Given the description of an element on the screen output the (x, y) to click on. 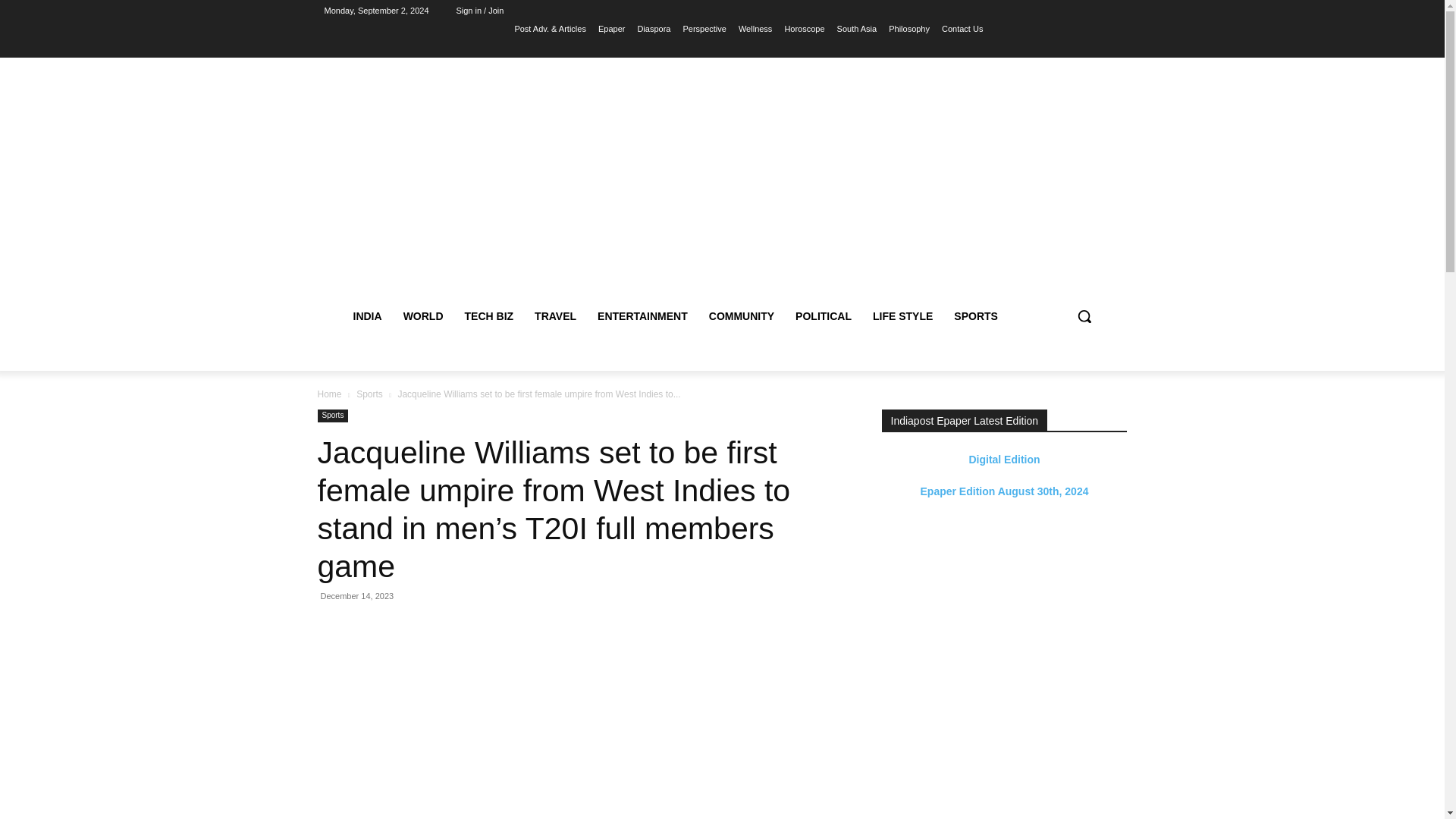
COMMUNITY (741, 316)
Perspective (703, 28)
POLITICAL (822, 316)
View all posts in Sports (369, 394)
LIFE STYLE (902, 316)
TRAVEL (555, 316)
Wellness (754, 28)
WORLD (423, 316)
Epaper (611, 28)
Sports (369, 394)
